Given the description of an element on the screen output the (x, y) to click on. 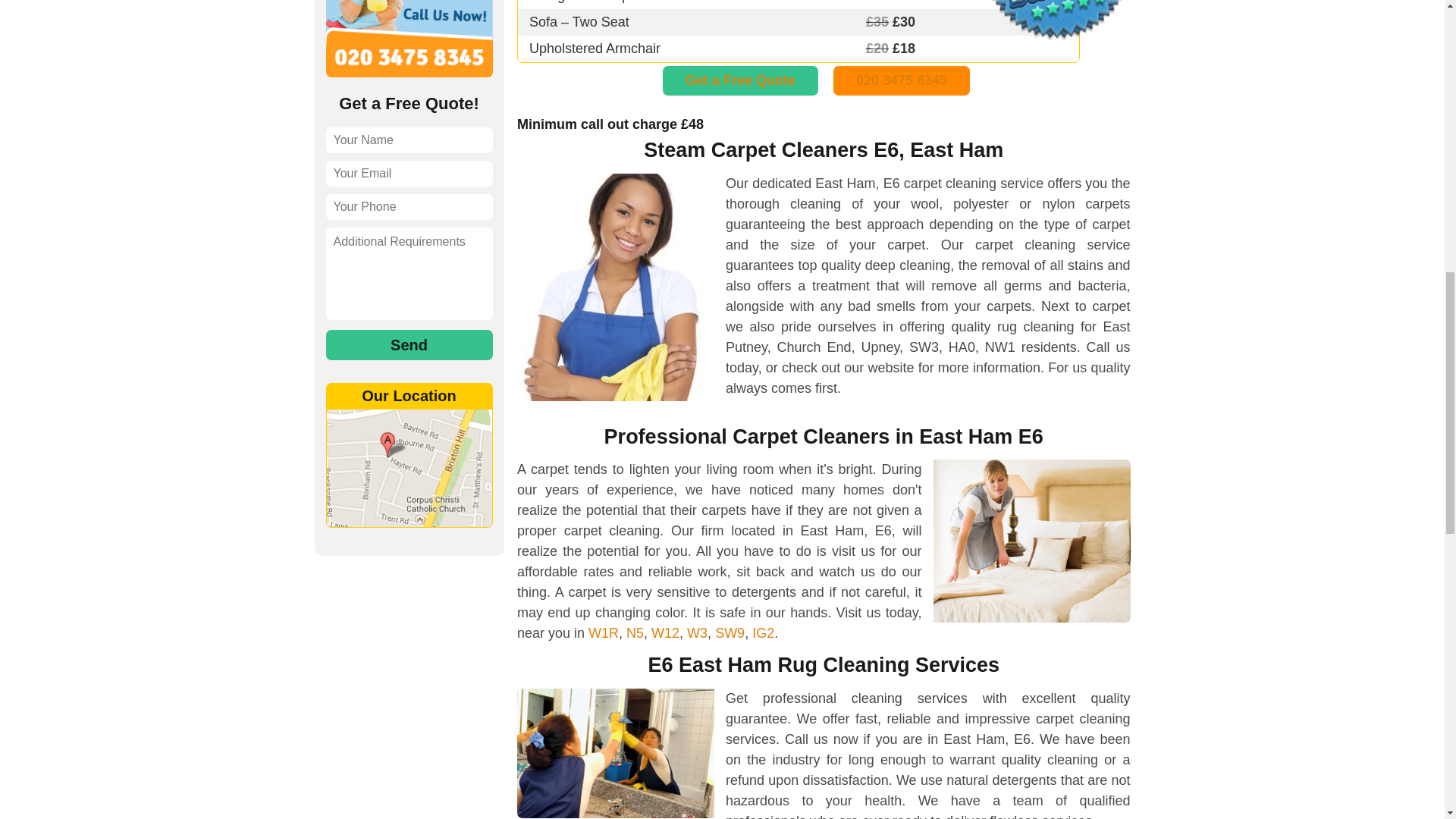
W12 (664, 632)
Get a Free Quote (740, 80)
IG2 (763, 632)
SW9 (729, 632)
020 3475 8345 (900, 80)
W3 (697, 632)
W1R (603, 632)
N5 (634, 632)
Send (409, 345)
